Given the description of an element on the screen output the (x, y) to click on. 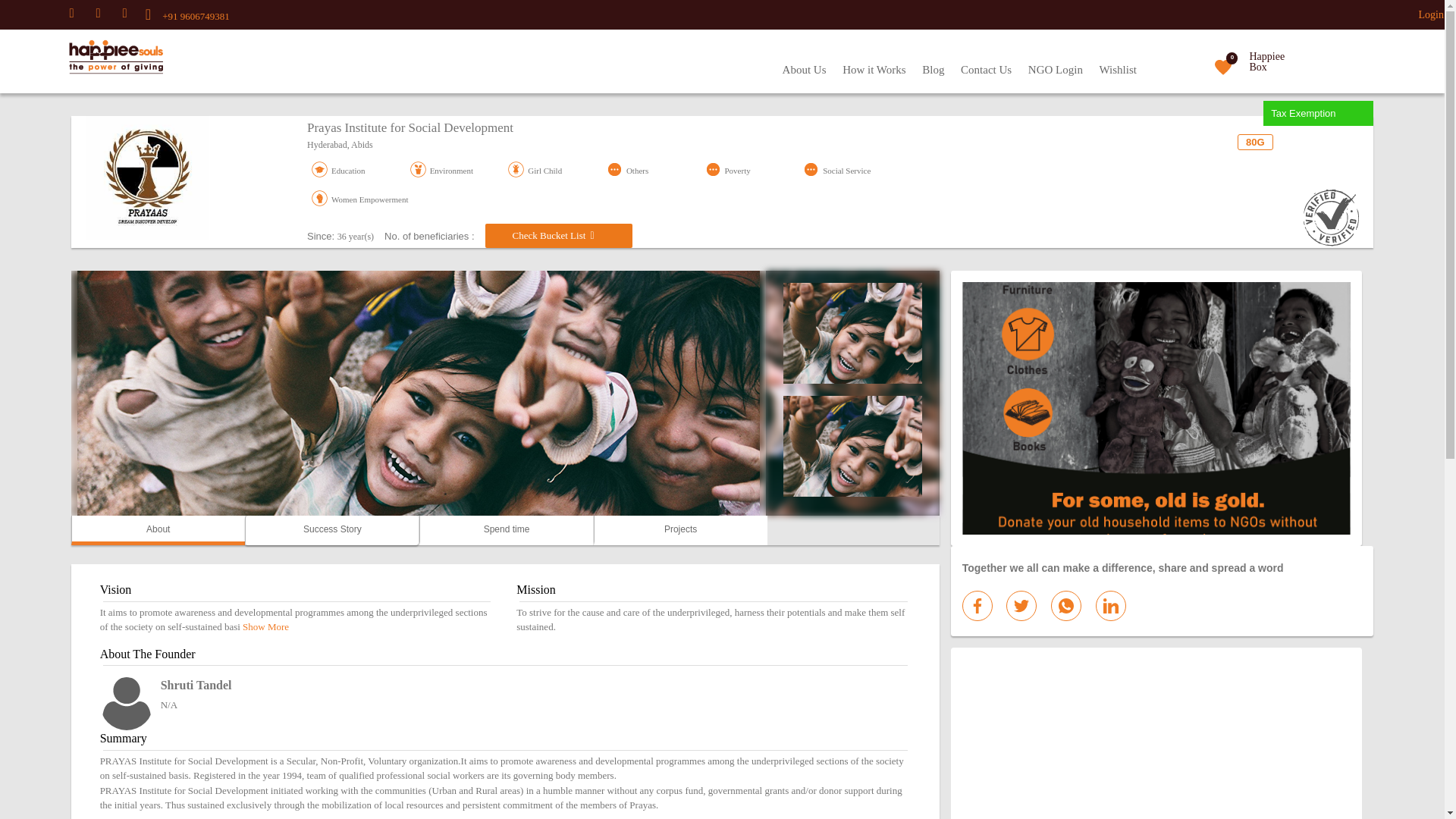
How it Works (873, 70)
NGO Login (1055, 70)
Contact Us (985, 70)
Check Bucket List (557, 235)
Show More (265, 626)
About Us (804, 70)
Magento Commerce (88, 57)
Blog (932, 70)
Wishlist (1117, 70)
Login (1431, 14)
